Given the description of an element on the screen output the (x, y) to click on. 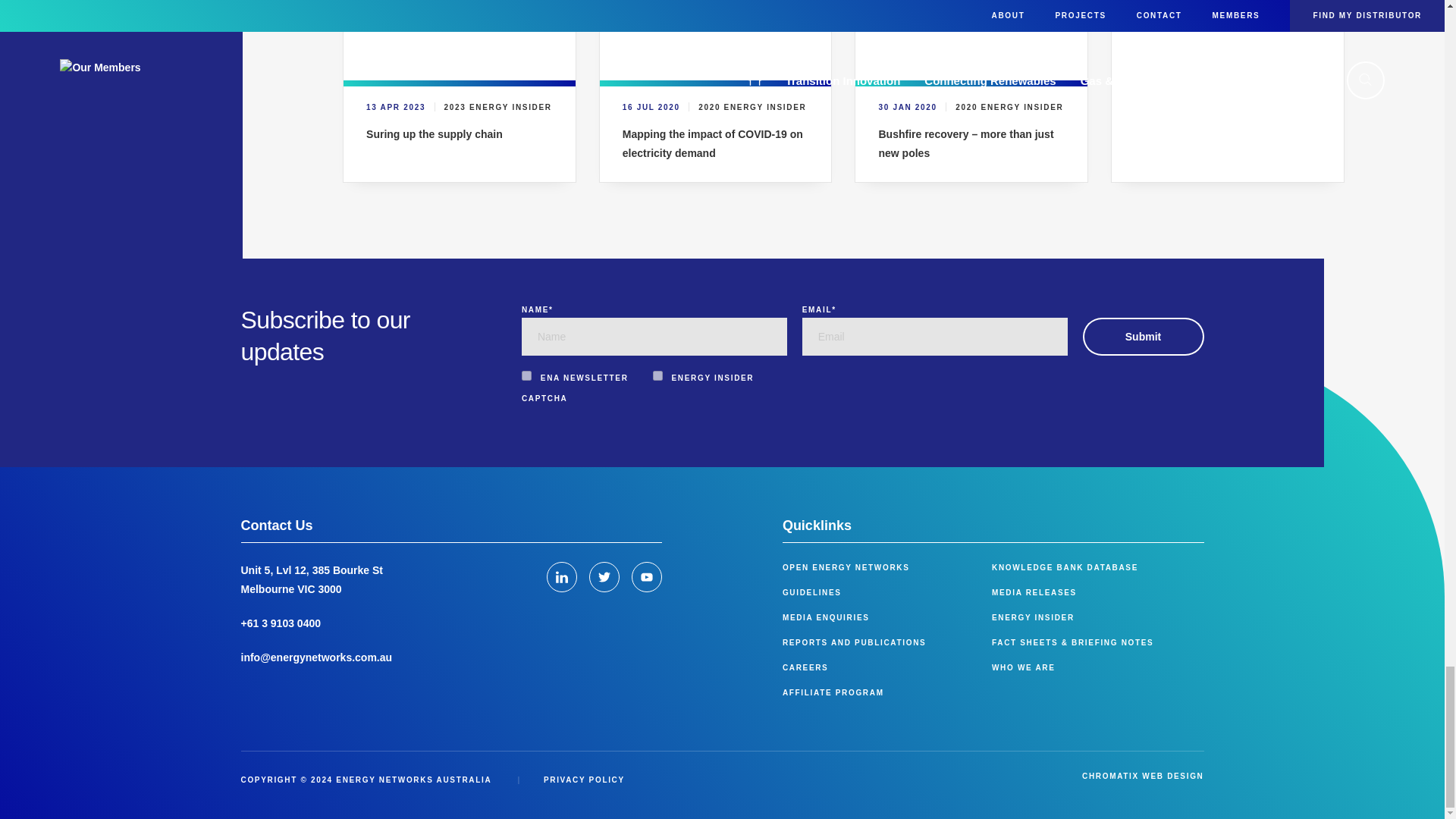
Energy Insider (657, 375)
ENA Newsletter (526, 375)
A guyed tower rises on EnergyConnect (459, 40)
Endeavour 1 (971, 40)
Wearing a Face Mask on the Tram (715, 40)
